Given the description of an element on the screen output the (x, y) to click on. 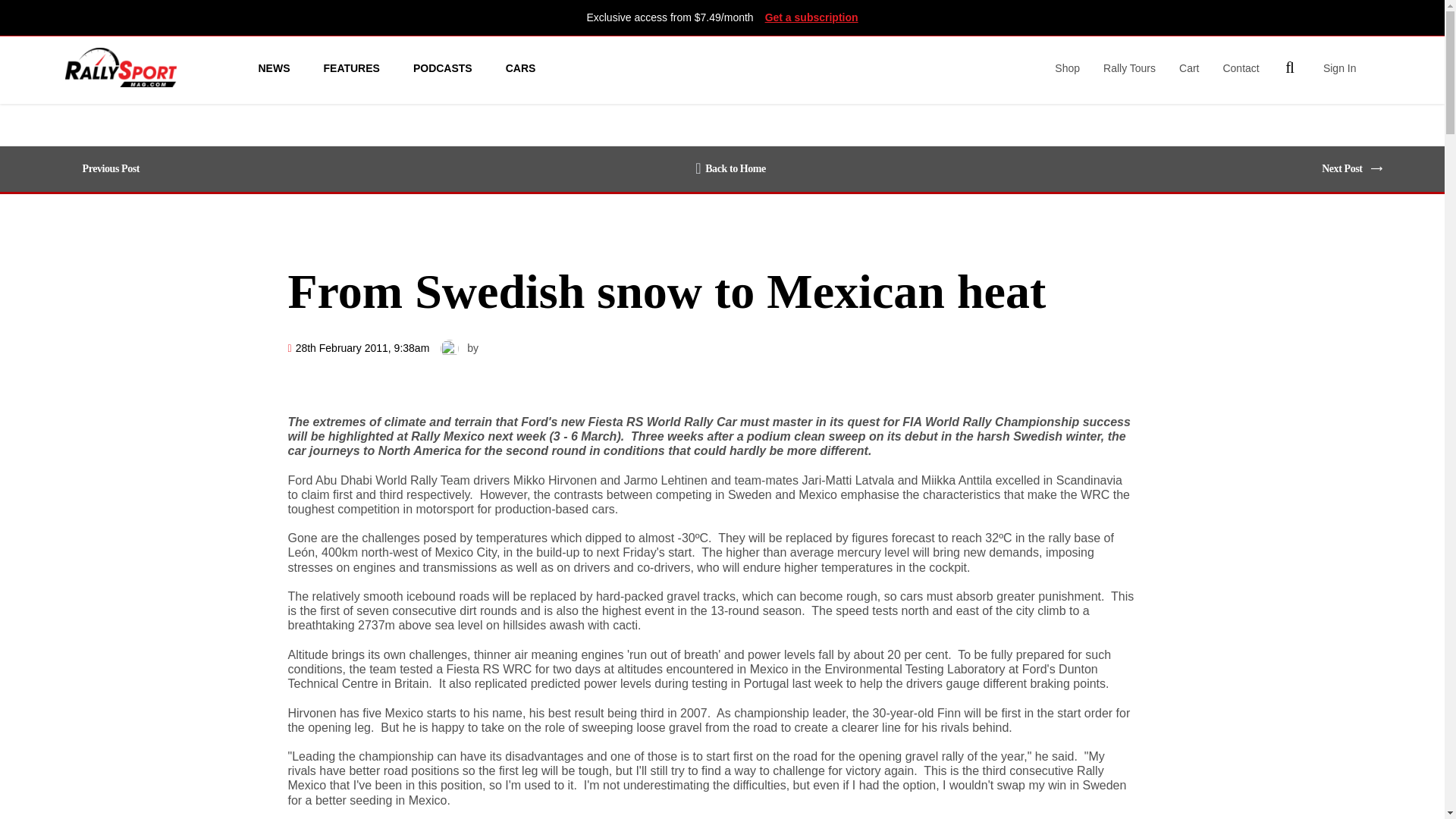
PODCASTS (442, 67)
Next Post (1345, 168)
Back to Home (730, 168)
Previous Post (107, 168)
Get a subscription (812, 17)
